Given the description of an element on the screen output the (x, y) to click on. 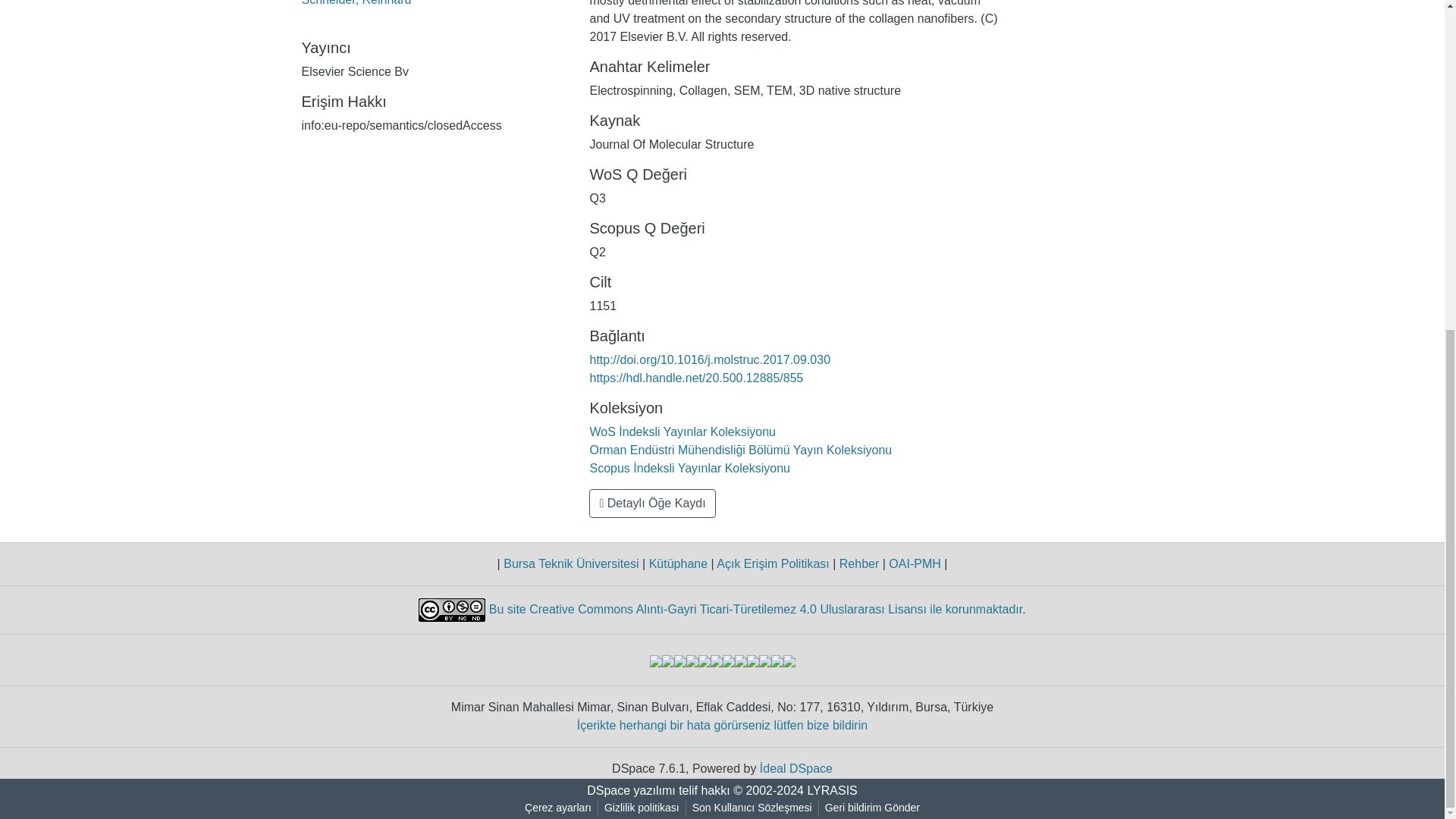
Schneider, Reinhard (356, 2)
Rehber (858, 563)
OAI-PMH (914, 563)
